Given the description of an element on the screen output the (x, y) to click on. 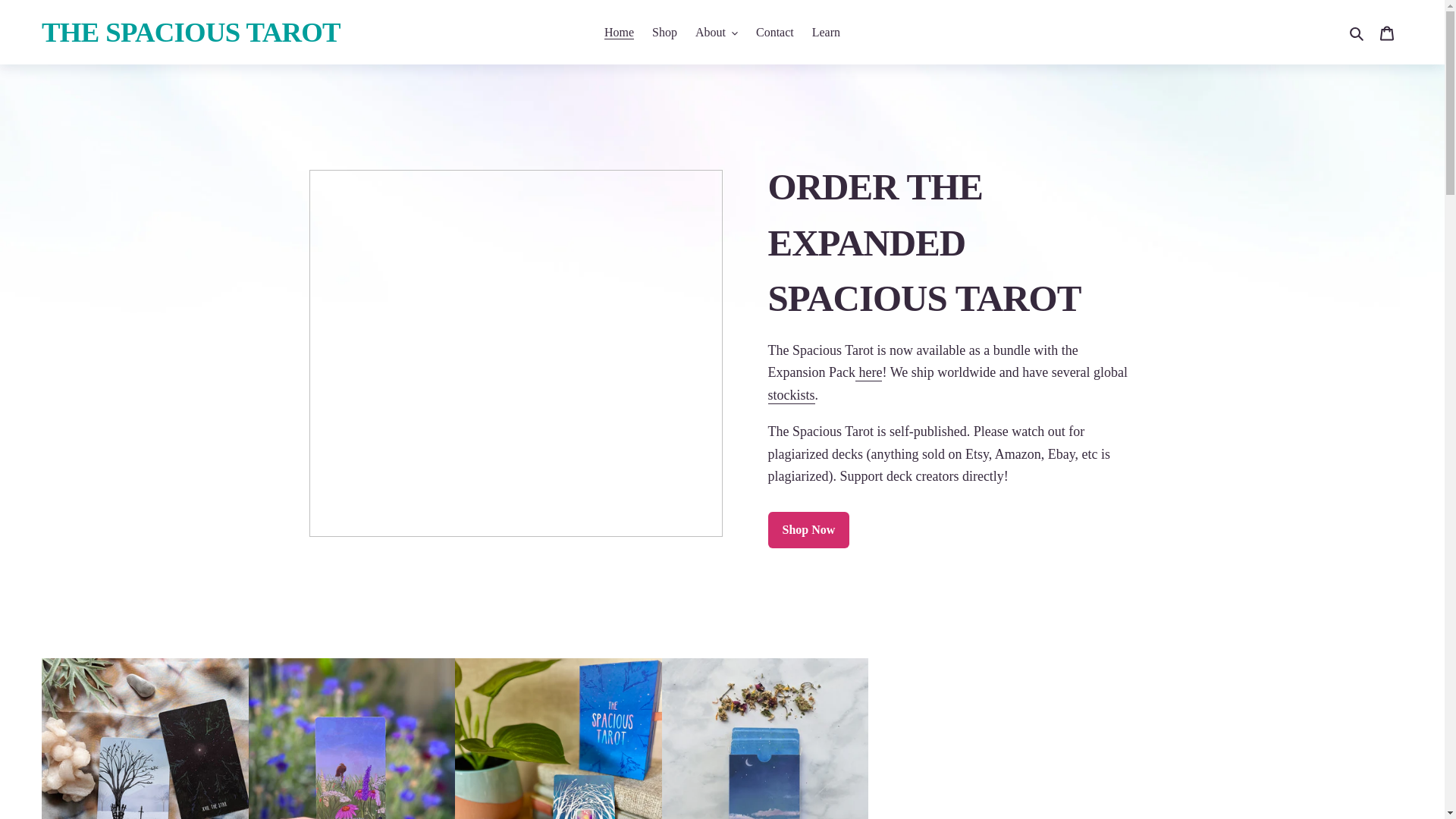
Search (1357, 32)
Home (619, 32)
stockists (790, 395)
Contact (775, 32)
THE SPACIOUS TAROT (191, 32)
Cart (1387, 32)
 here (869, 372)
About (716, 32)
Learn (826, 32)
Shop (664, 32)
Shop Now (807, 529)
